Given the description of an element on the screen output the (x, y) to click on. 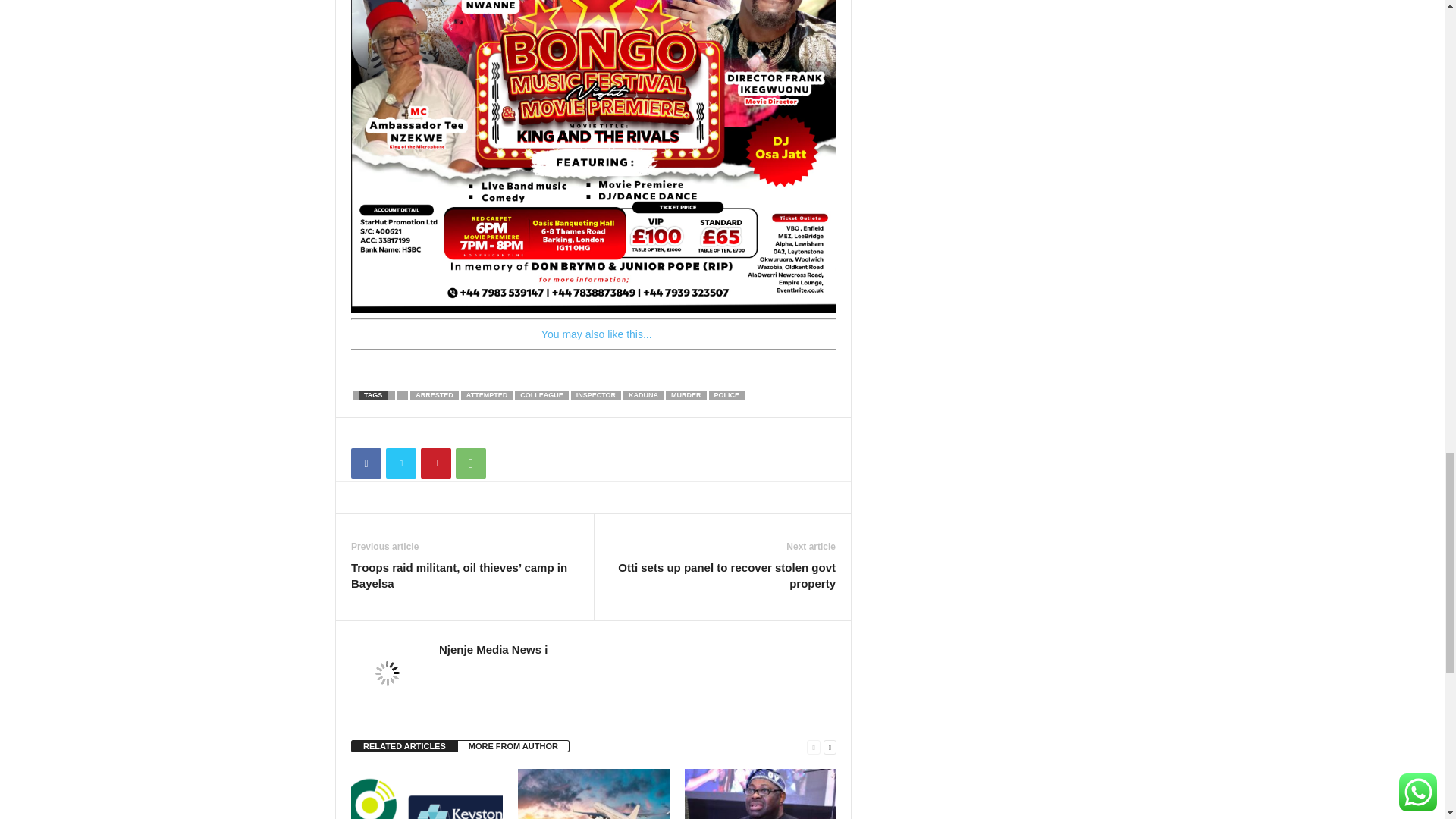
Facebook (365, 462)
Twitter (400, 462)
Pinterest (435, 462)
WhatsApp (470, 462)
